Given the description of an element on the screen output the (x, y) to click on. 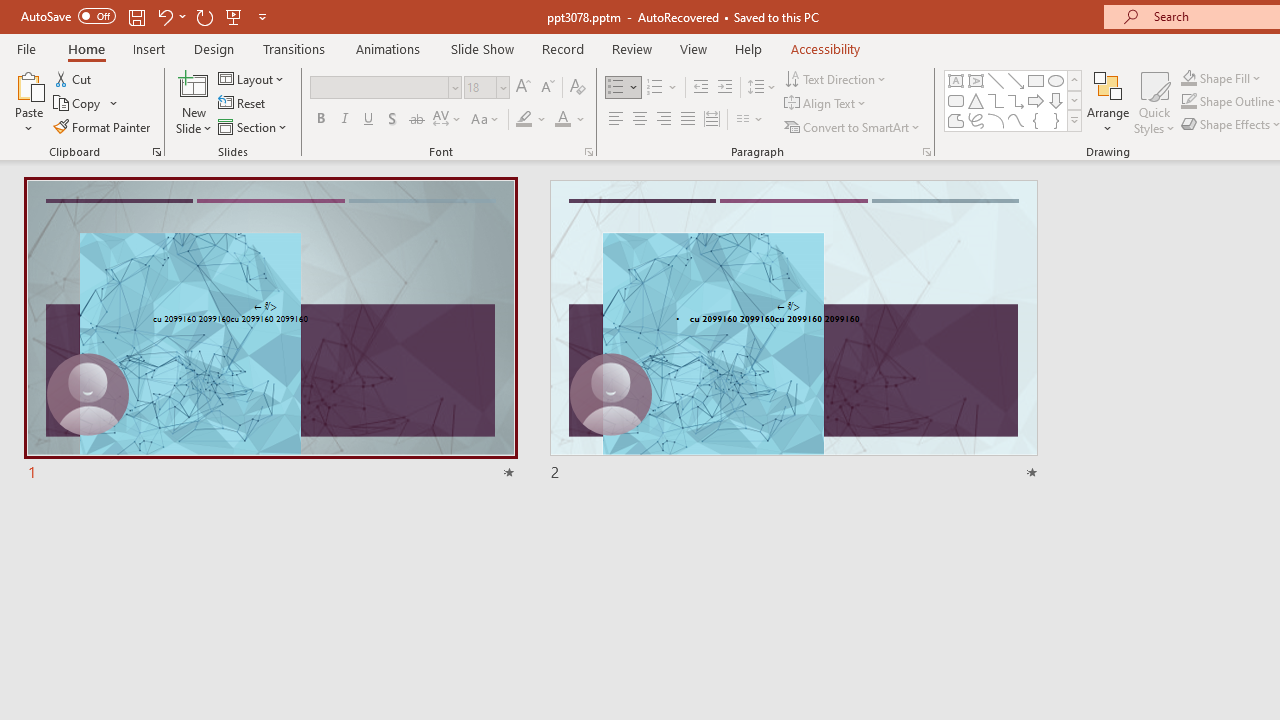
Shape Fill Dark Green, Accent 2 (1188, 78)
